Given the description of an element on the screen output the (x, y) to click on. 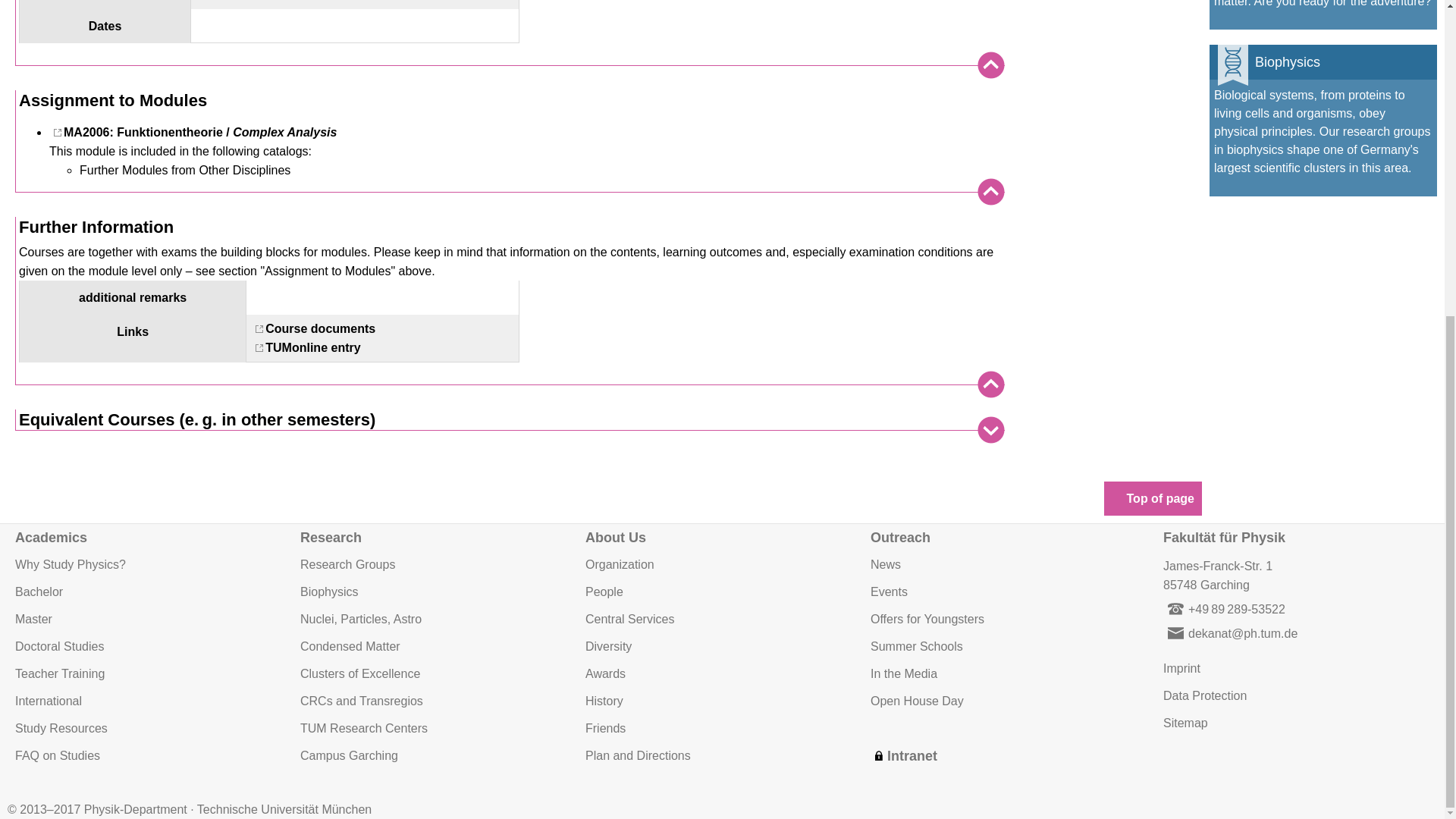
Course documents (312, 328)
TUMonline entry (304, 347)
